Given the description of an element on the screen output the (x, y) to click on. 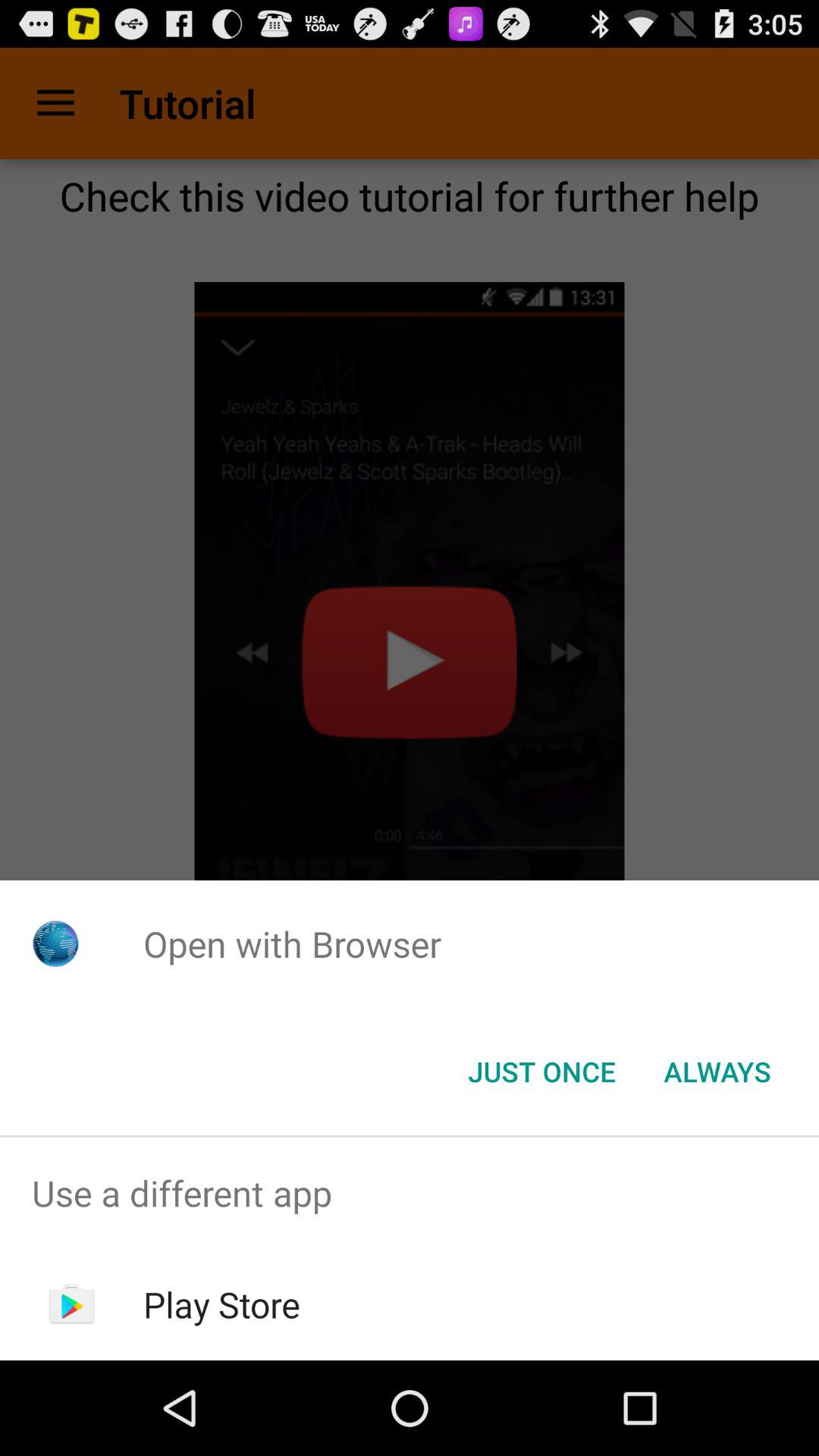
press item to the right of the just once button (717, 1071)
